Given the description of an element on the screen output the (x, y) to click on. 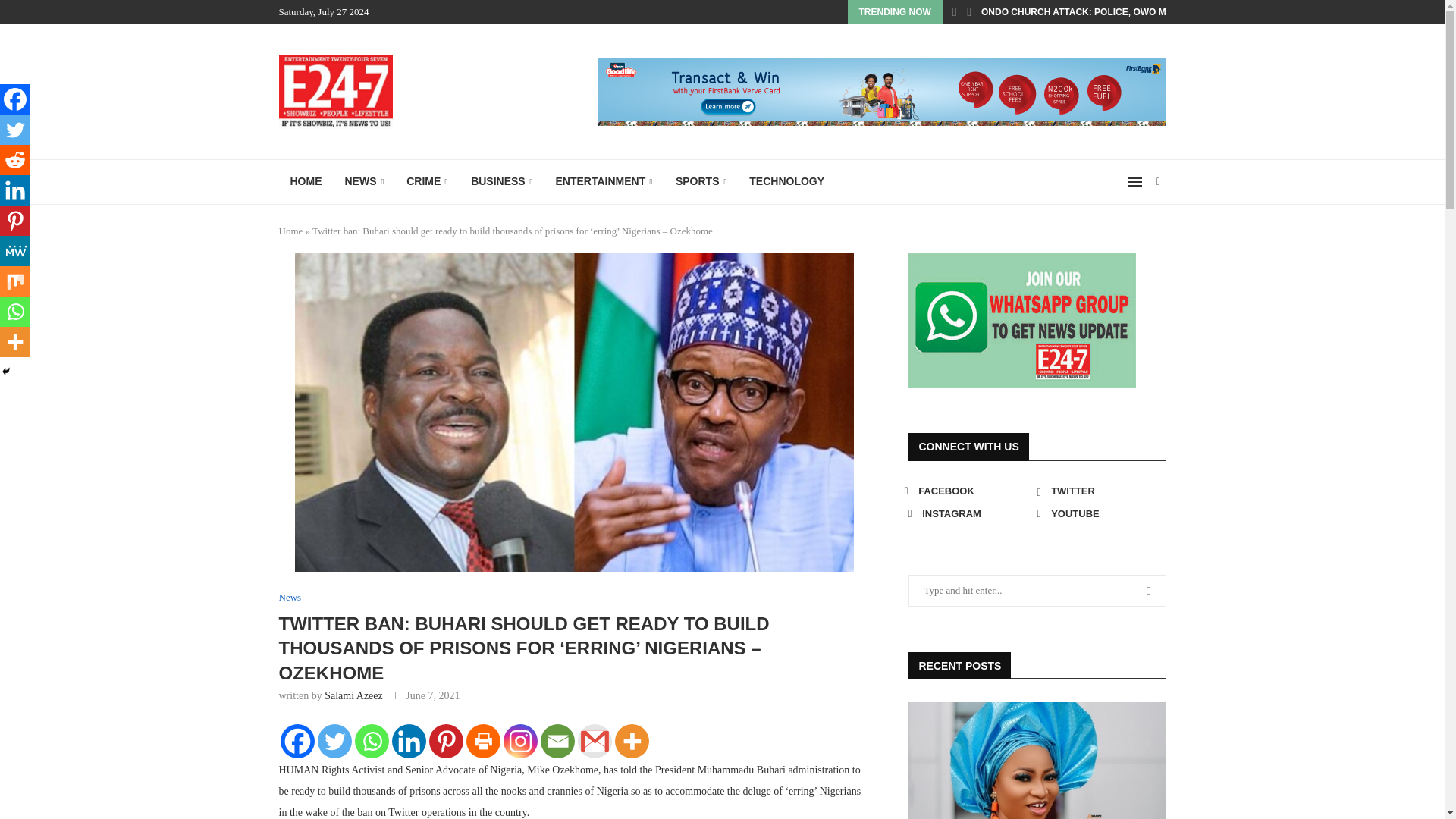
Email (556, 740)
More (630, 740)
BUSINESS (501, 181)
SPORTS (700, 181)
Facebook (297, 740)
Twitter (333, 740)
CRIME (427, 181)
Pinterest (446, 740)
Google Gmail (594, 740)
TECHNOLOGY (786, 181)
Linkedin (408, 740)
Home (290, 230)
Print (482, 740)
NEWS (364, 181)
ENTERTAINMENT (603, 181)
